Given the description of an element on the screen output the (x, y) to click on. 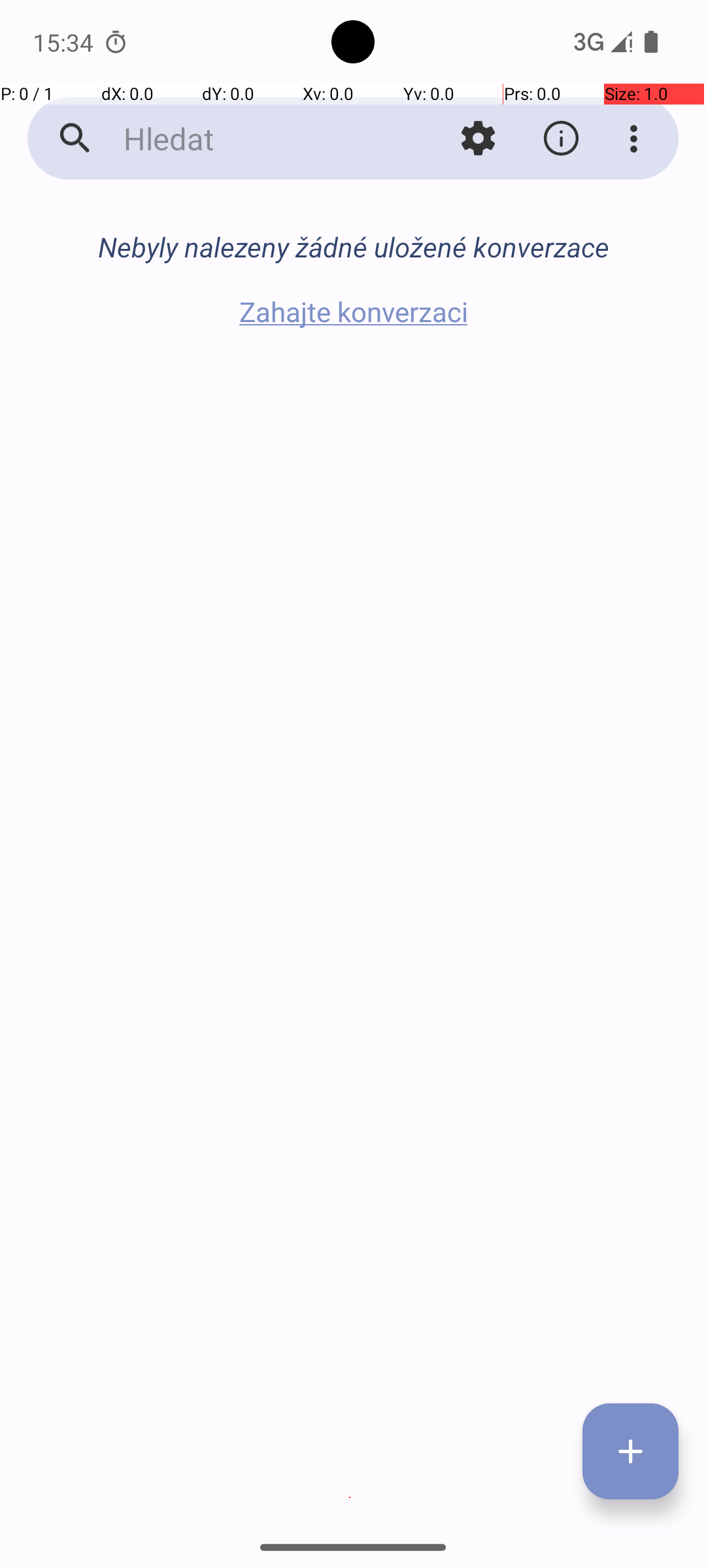
O aplikaci Element type: android.widget.Button (560, 138)
Nebyly nalezeny žádné uložené konverzace Element type: android.widget.TextView (353, 246)
Zahajte konverzaci Element type: android.widget.TextView (352, 311)
